Given the description of an element on the screen output the (x, y) to click on. 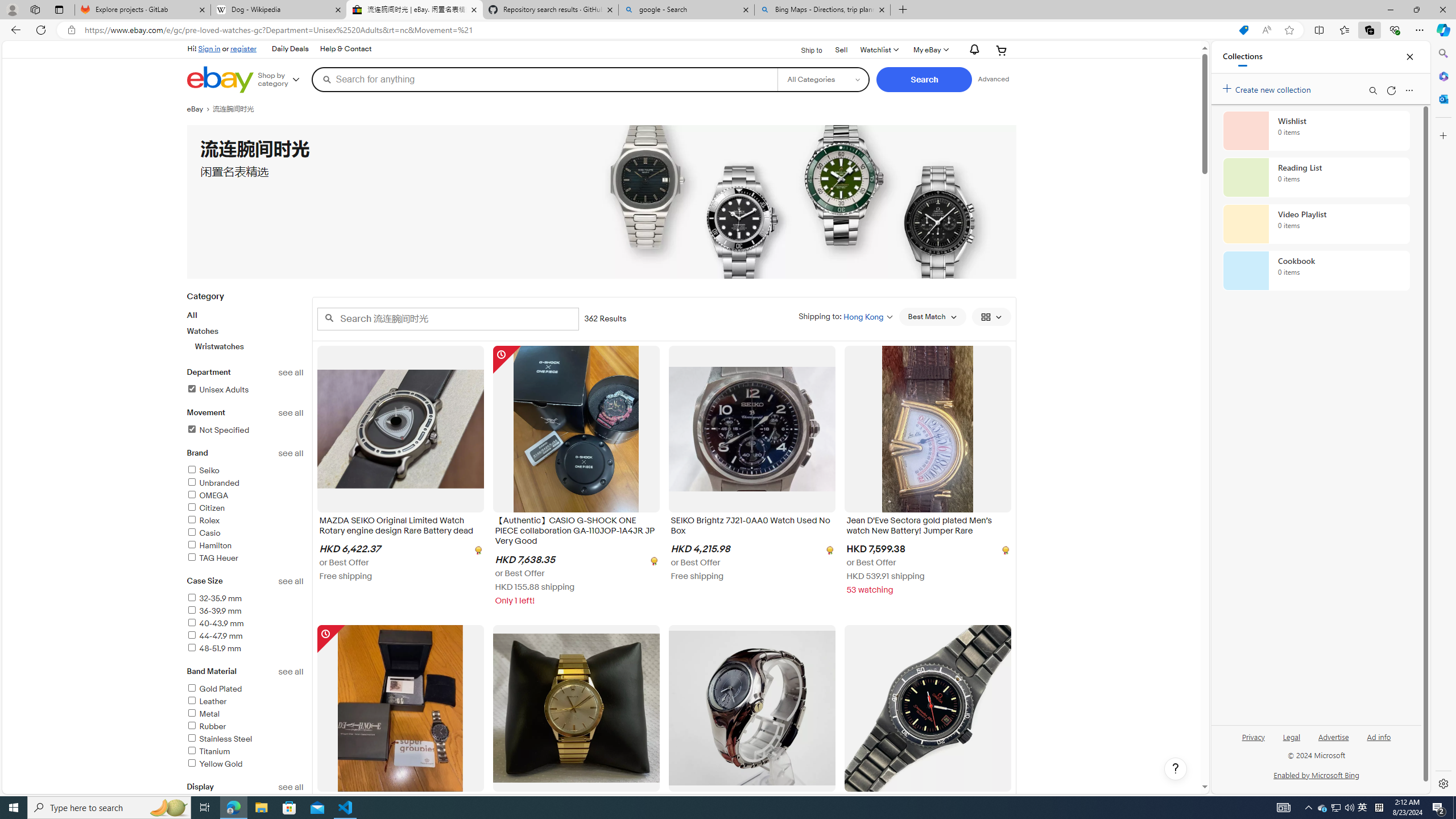
Advanced Search (993, 78)
Leather (245, 701)
Citizen (205, 507)
See all department refinements (291, 372)
Daily Deals (290, 49)
Gold Plated (213, 688)
Unisex Adults Filter Applied (217, 389)
Titanium (208, 751)
